Given the description of an element on the screen output the (x, y) to click on. 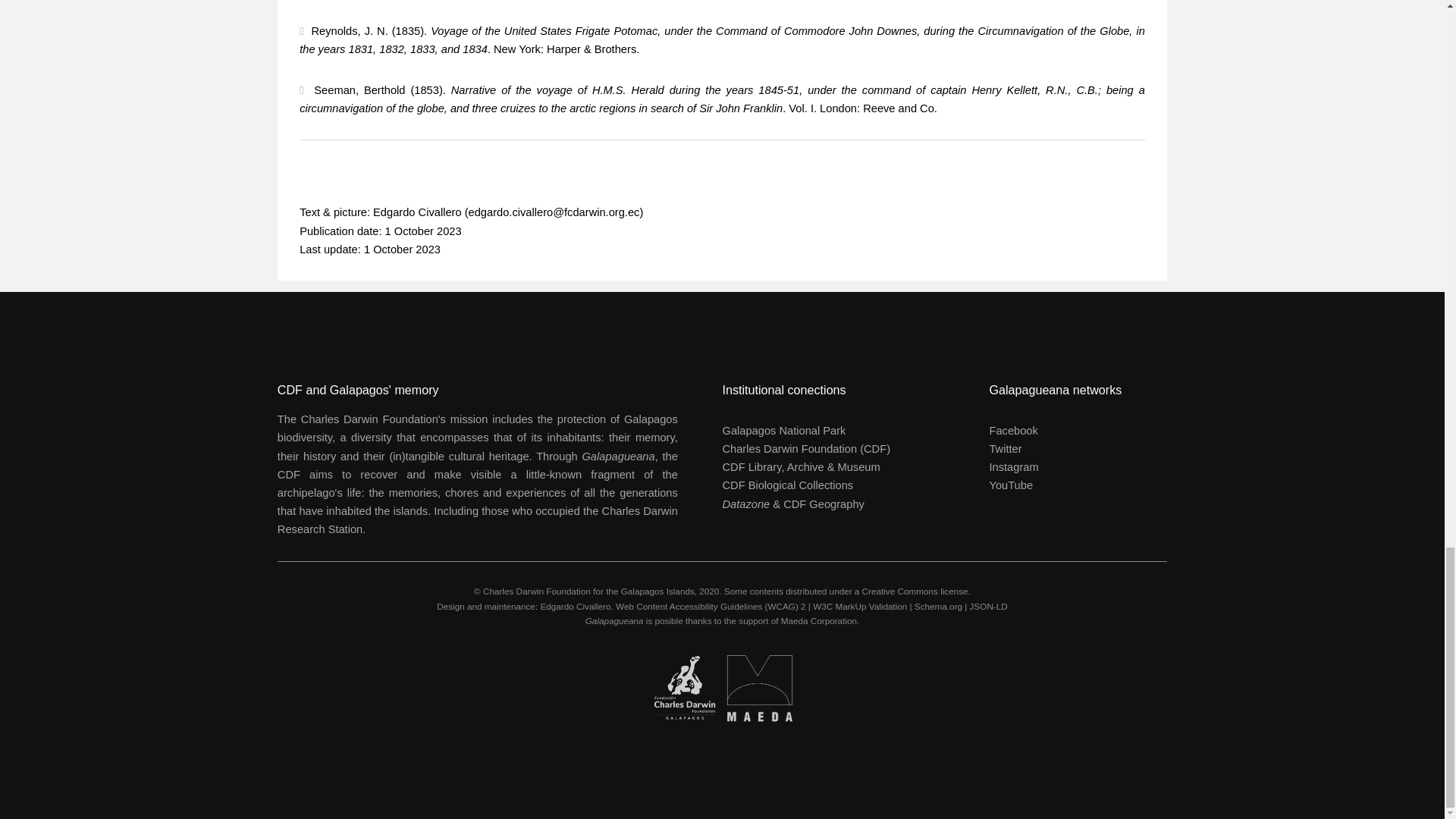
Instagram (1013, 467)
CDF Biological Collections (787, 485)
Twitter (1005, 449)
Facebook (1012, 430)
Galapagos National Park (783, 430)
YouTube (1010, 485)
